Given the description of an element on the screen output the (x, y) to click on. 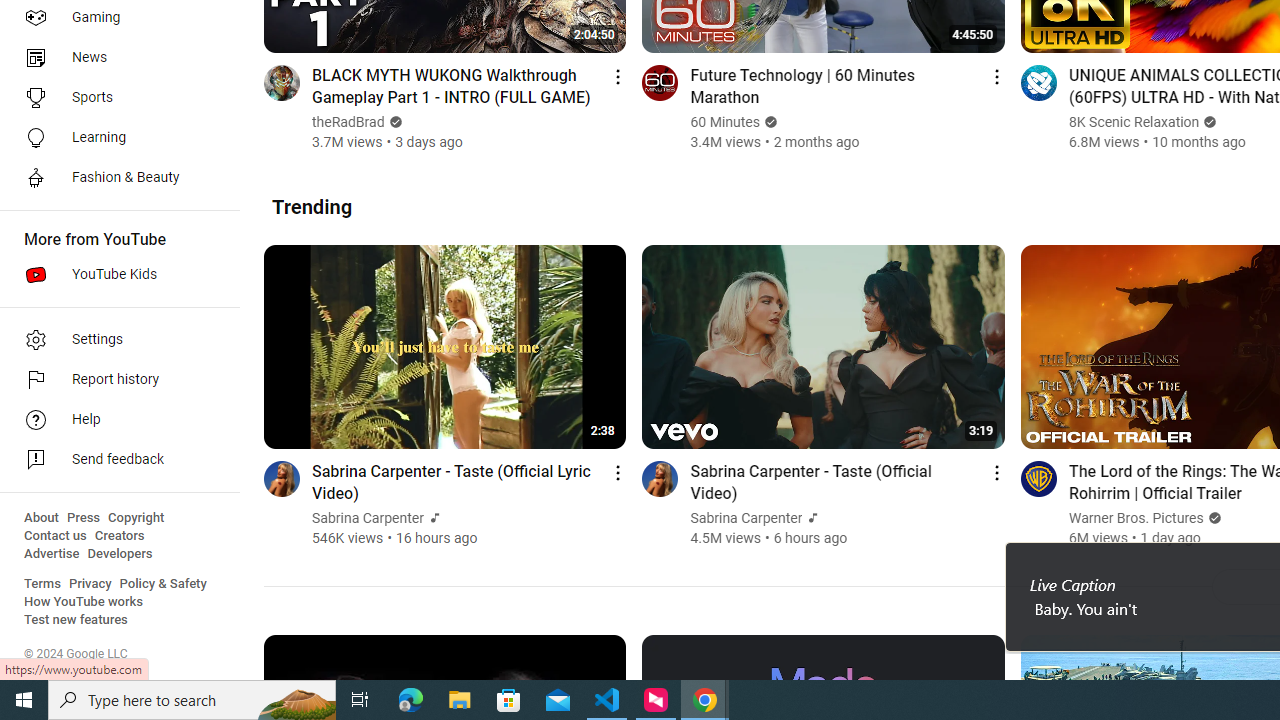
8K Scenic Relaxation (1133, 122)
Sports (113, 97)
Policy & Safety (163, 584)
Official Artist Channel (811, 518)
Report history (113, 380)
Action menu (996, 472)
Test new features (76, 620)
Settings (113, 339)
Warner Bros. Pictures (1136, 518)
Copyright (136, 518)
Terms (42, 584)
60 Minutes (725, 122)
